Given the description of an element on the screen output the (x, y) to click on. 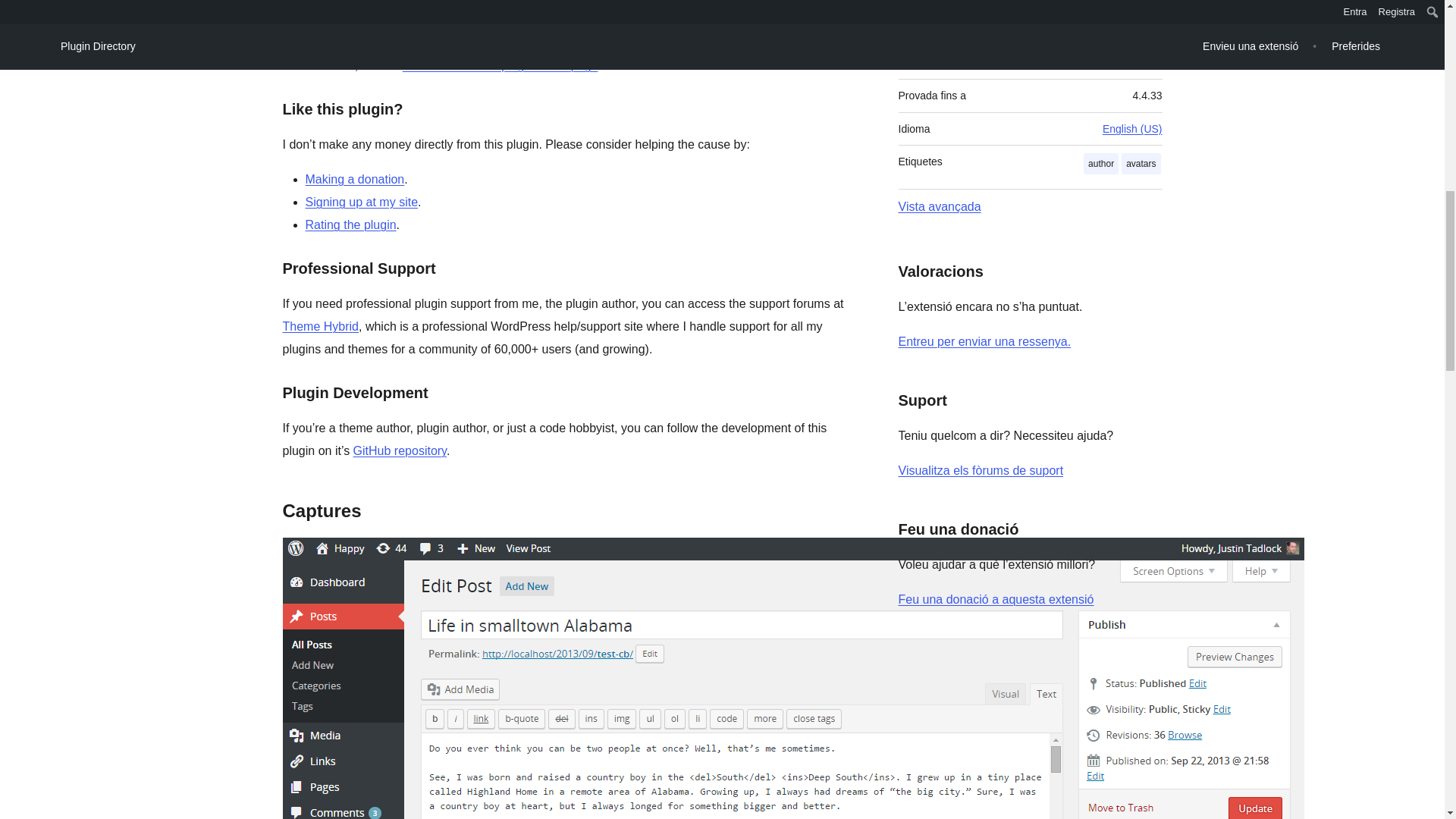
Signing up at my site (360, 201)
Avatars Meta Box plugin home page (500, 65)
Making a donation (354, 178)
Entra a WordPress.org (984, 341)
